Given the description of an element on the screen output the (x, y) to click on. 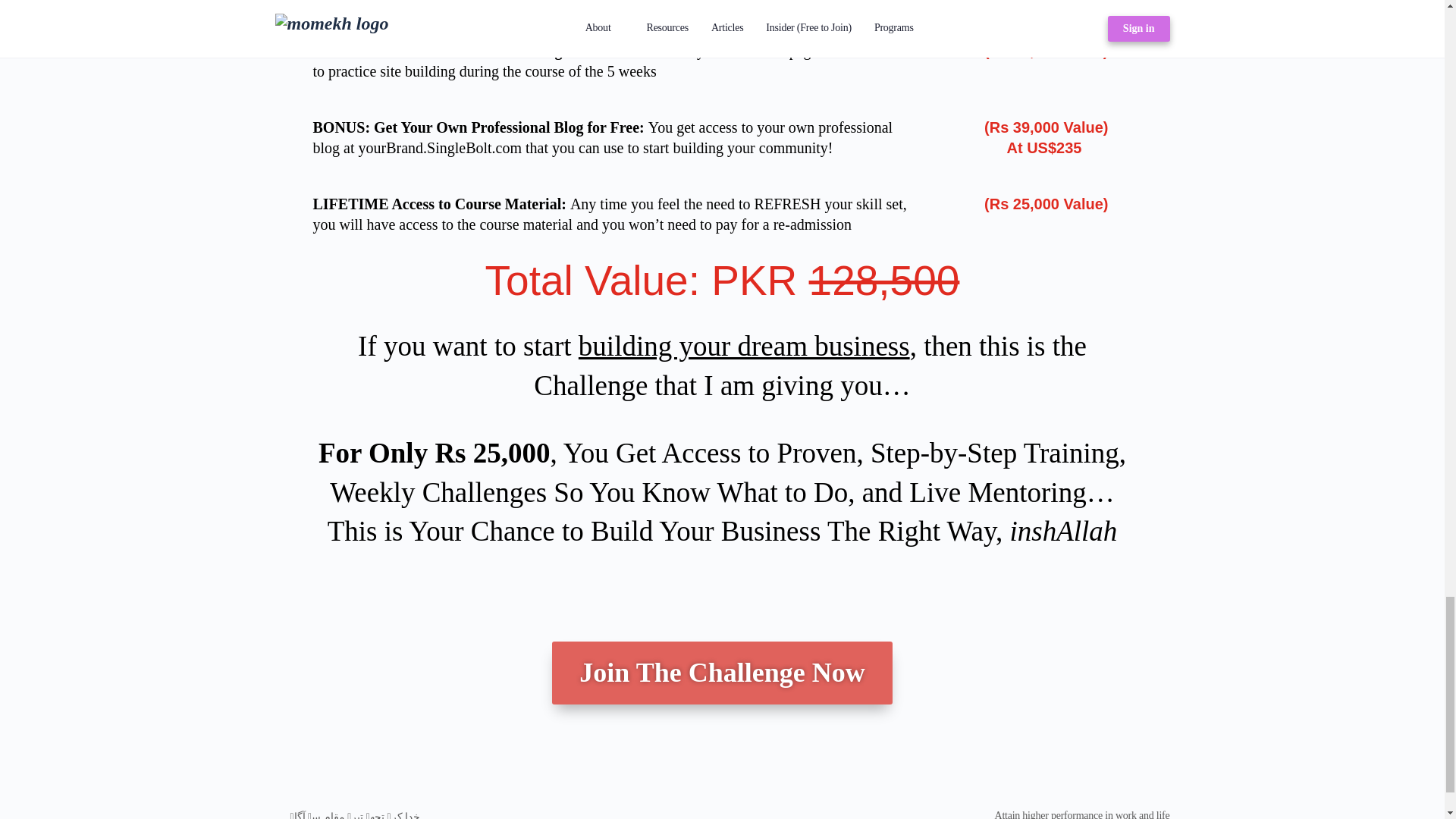
Join The Challenge Now (721, 672)
